Given the description of an element on the screen output the (x, y) to click on. 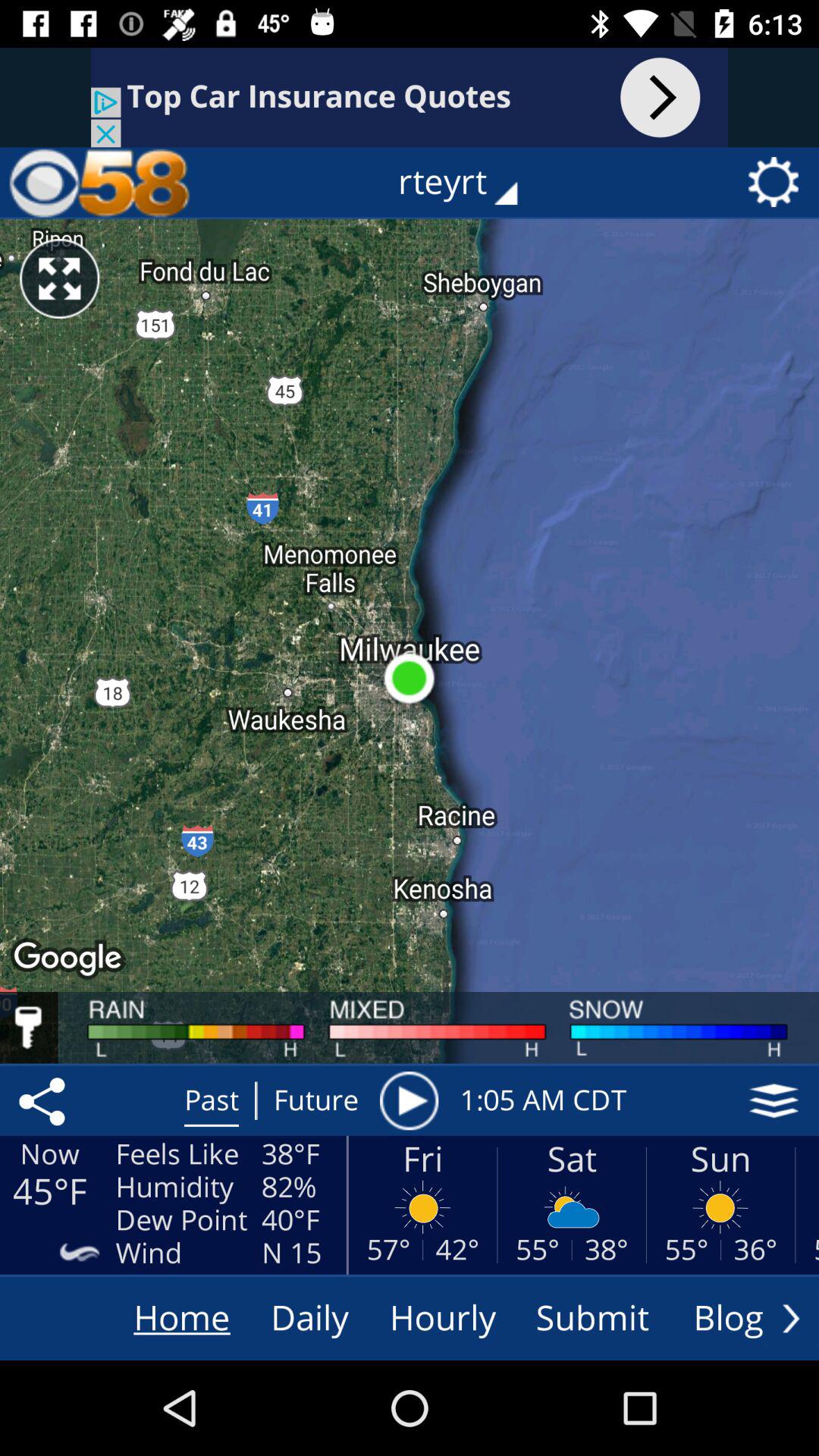
flip to the rteyrt icon (468, 182)
